Given the description of an element on the screen output the (x, y) to click on. 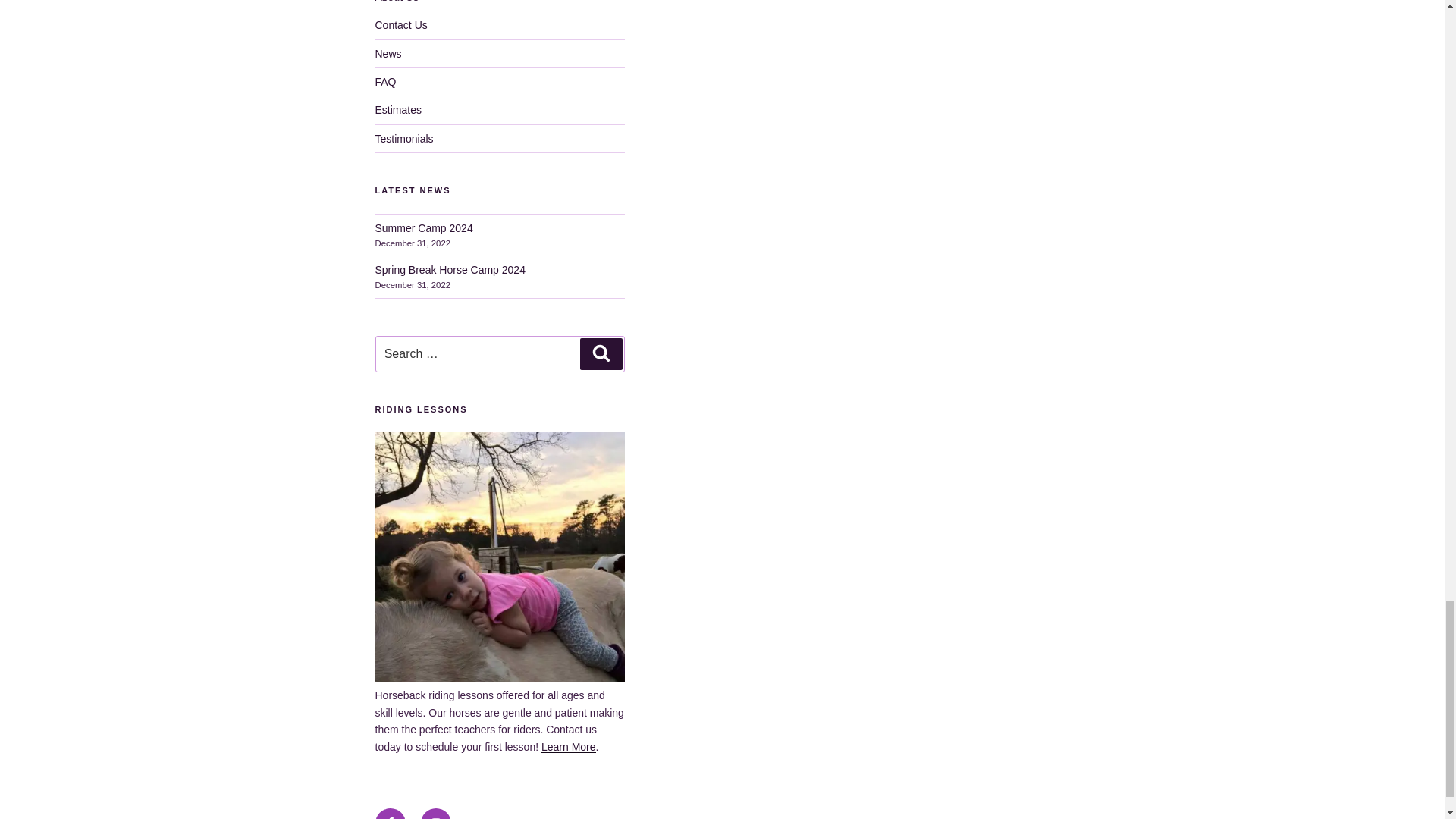
News (387, 53)
Learn More (568, 746)
Instagram (435, 813)
Summer Camp 2024 (422, 227)
Testimonials (403, 138)
Spring Break Horse Camp 2024 (449, 269)
About Us (396, 1)
Search (601, 354)
Contact Us (400, 24)
FAQ (385, 81)
Facebook (389, 813)
Estimates (397, 110)
